Given the description of an element on the screen output the (x, y) to click on. 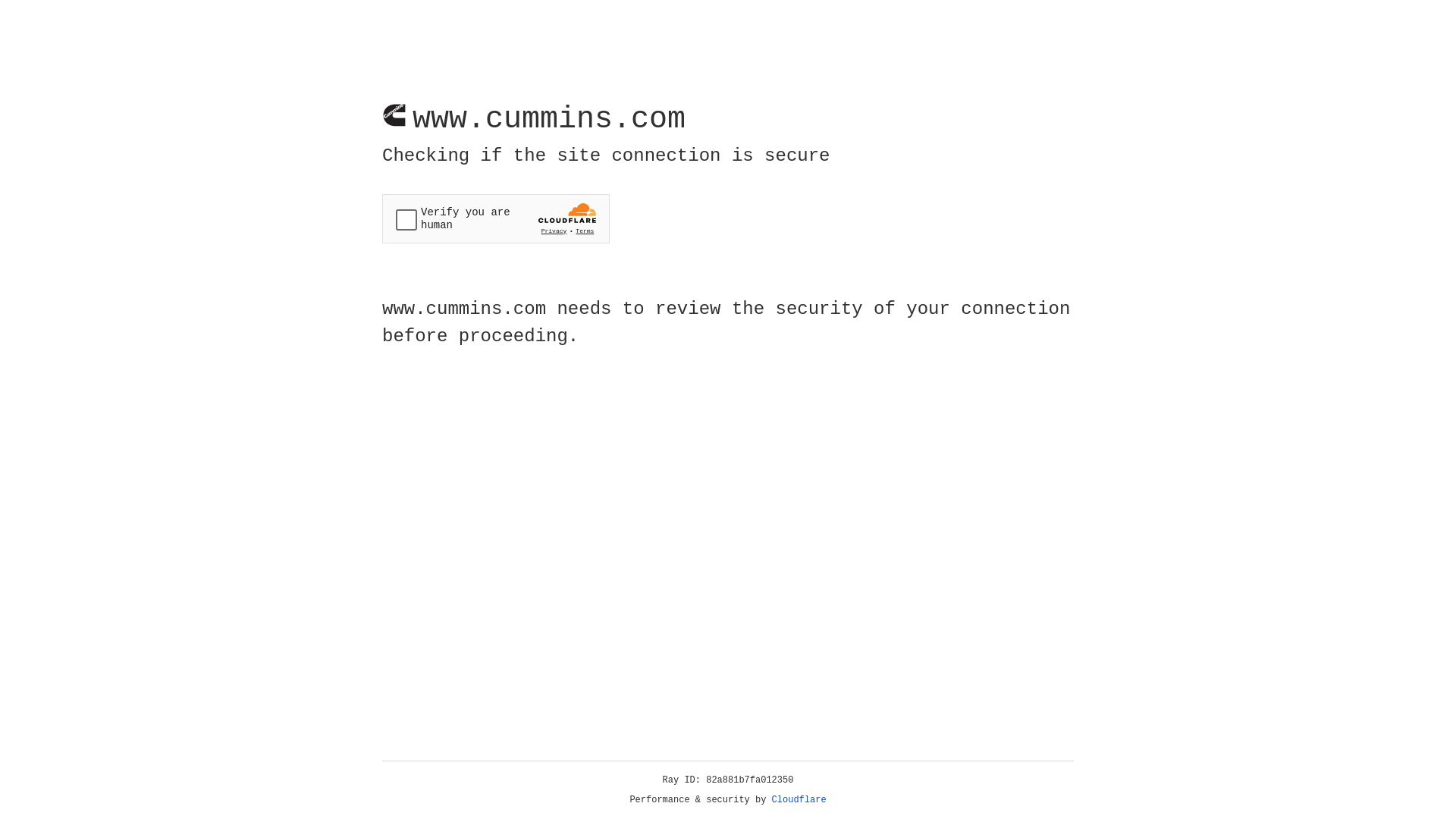
Cloudflare Element type: text (798, 799)
Widget containing a Cloudflare security challenge Element type: hover (495, 218)
